Given the description of an element on the screen output the (x, y) to click on. 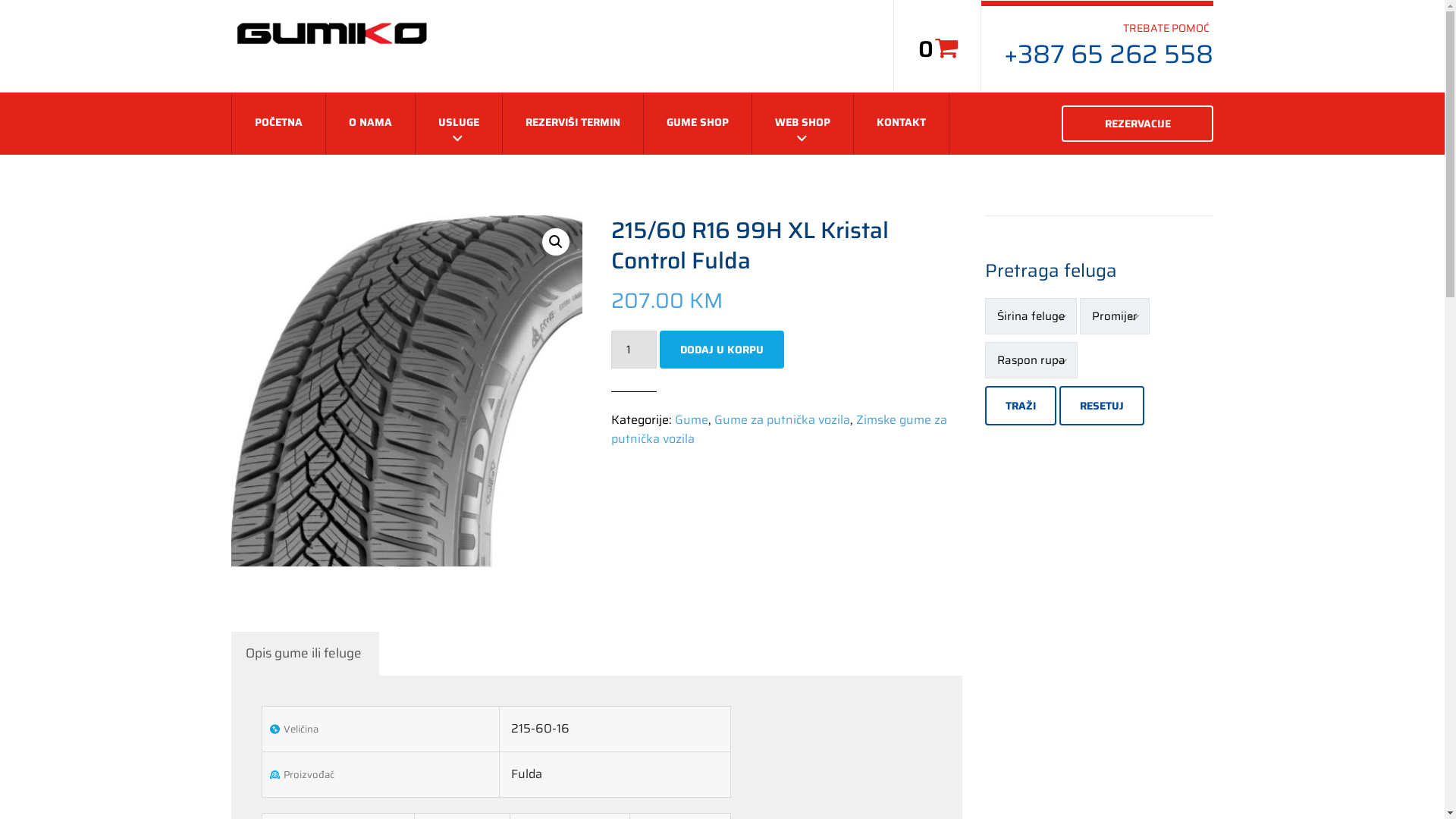
WEB SHOP Element type: text (802, 123)
USLUGE Element type: text (458, 123)
Opis gume ili feluge Element type: text (303, 652)
KONTAKT Element type: text (901, 123)
RESETUJ Element type: text (1101, 405)
REZERVACIJE Element type: text (1137, 123)
Gume Element type: text (691, 419)
Fulda Hp Element type: hover (406, 390)
GUME SHOP Element type: text (697, 123)
O NAMA Element type: text (369, 123)
DODAJ U KORPU Element type: text (721, 349)
